Given the description of an element on the screen output the (x, y) to click on. 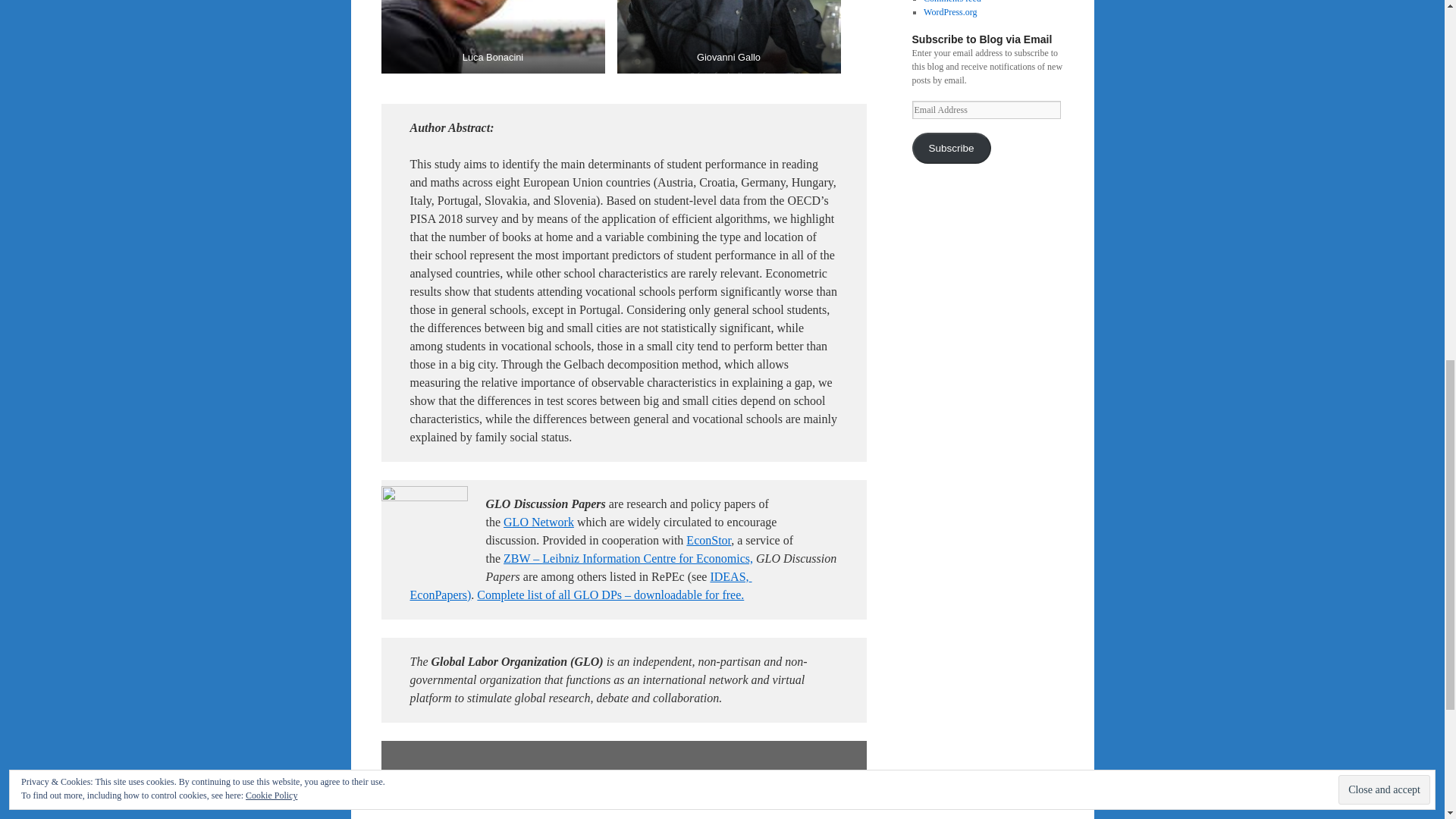
IDEAS, (729, 576)
GLO Network (538, 521)
EconStor (707, 540)
